Given the description of an element on the screen output the (x, y) to click on. 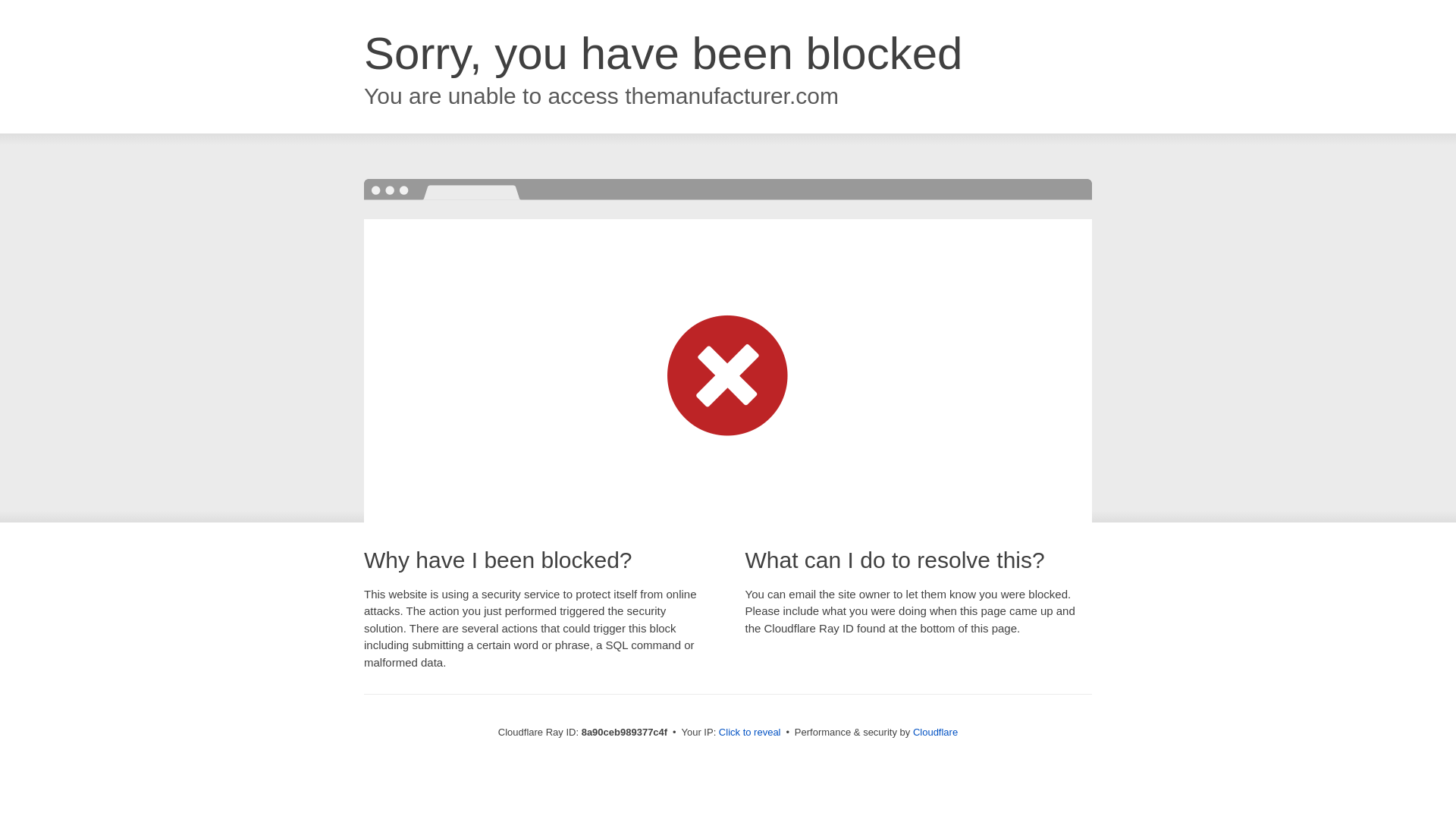
Cloudflare (935, 731)
Click to reveal (749, 732)
